Given the description of an element on the screen output the (x, y) to click on. 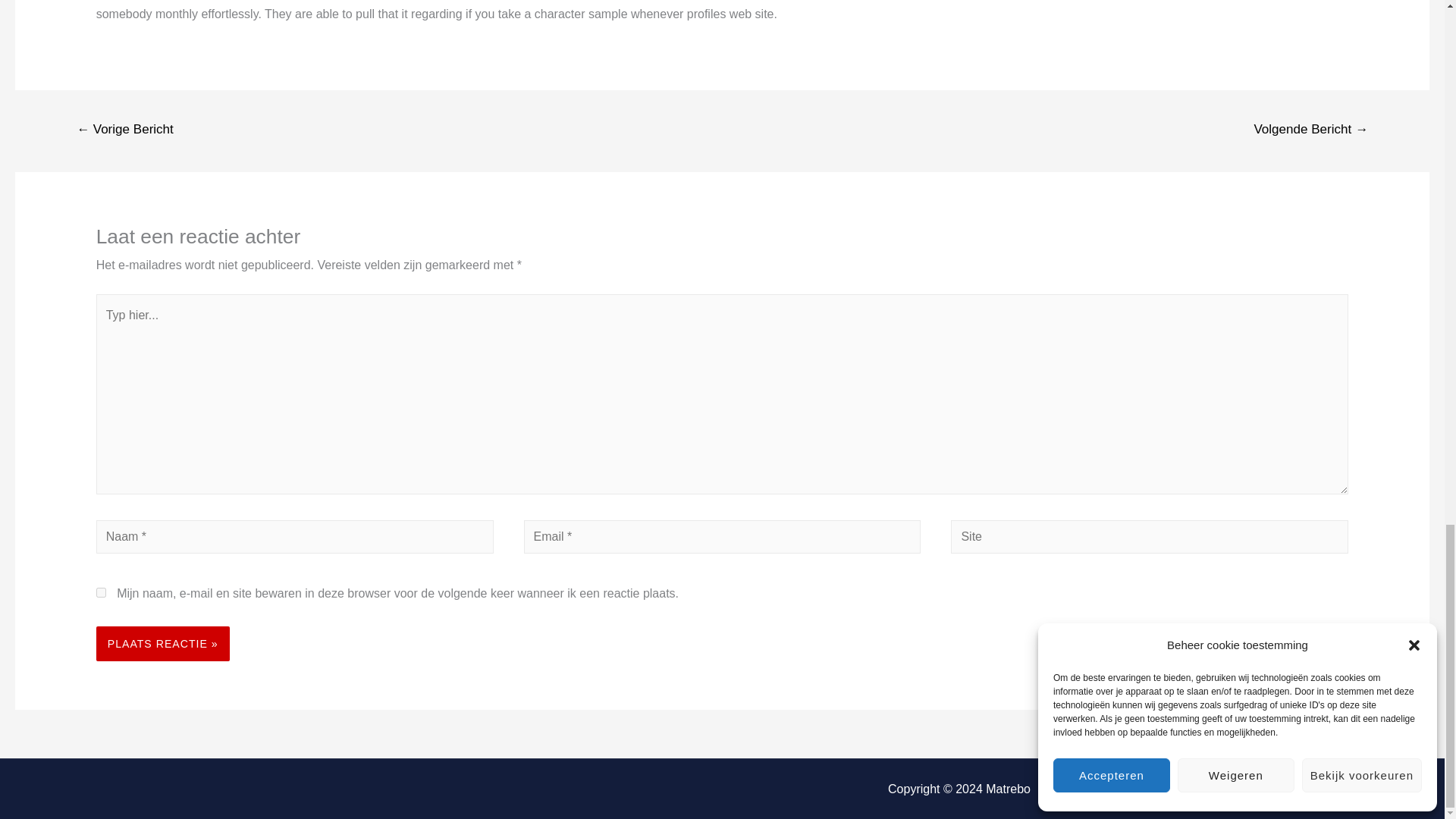
yes (101, 592)
